Given the description of an element on the screen output the (x, y) to click on. 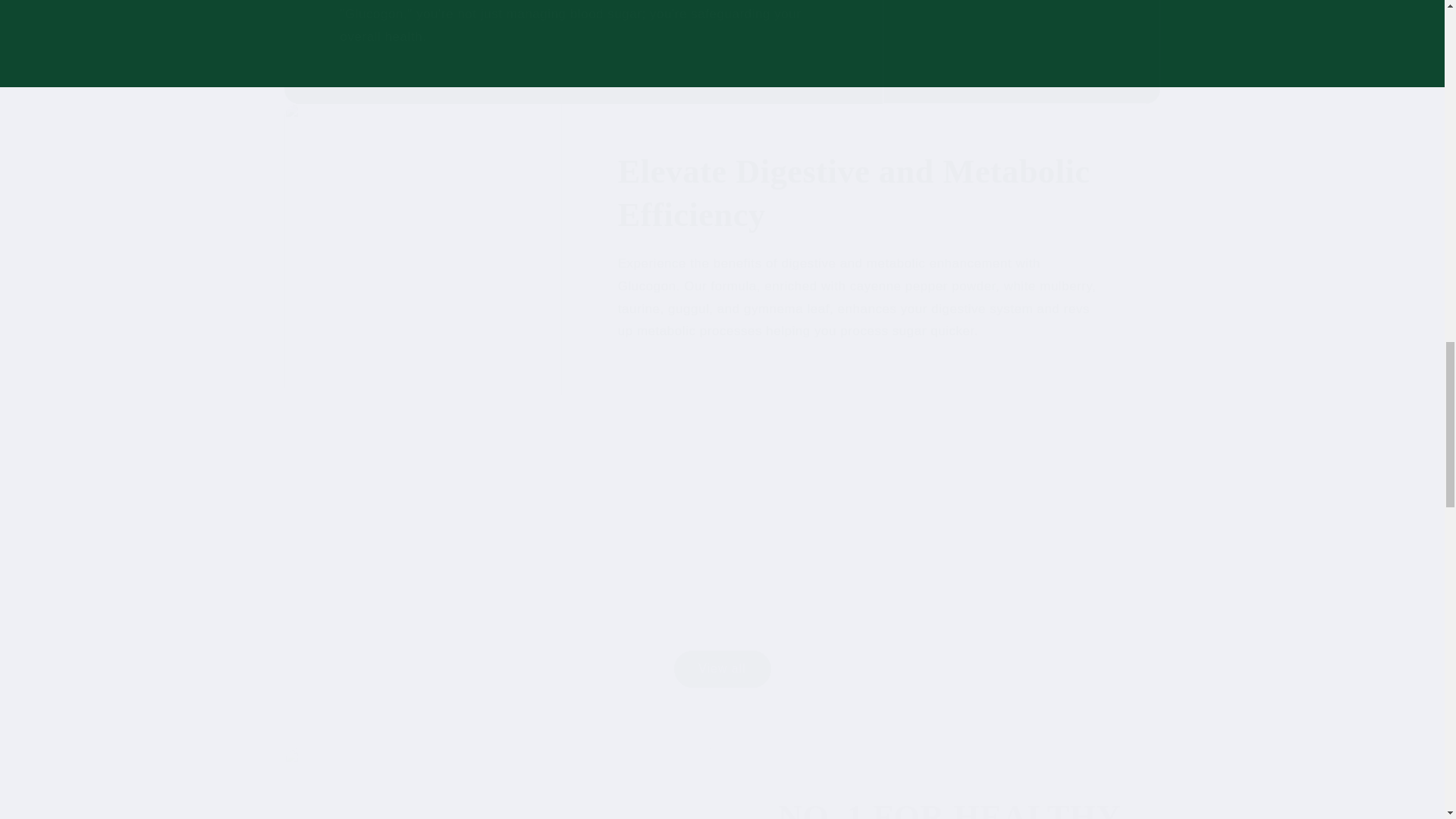
Glucogon - 2 Bottles (721, 603)
Glucogon - 1 Bottle (422, 603)
View all (721, 668)
